Given the description of an element on the screen output the (x, y) to click on. 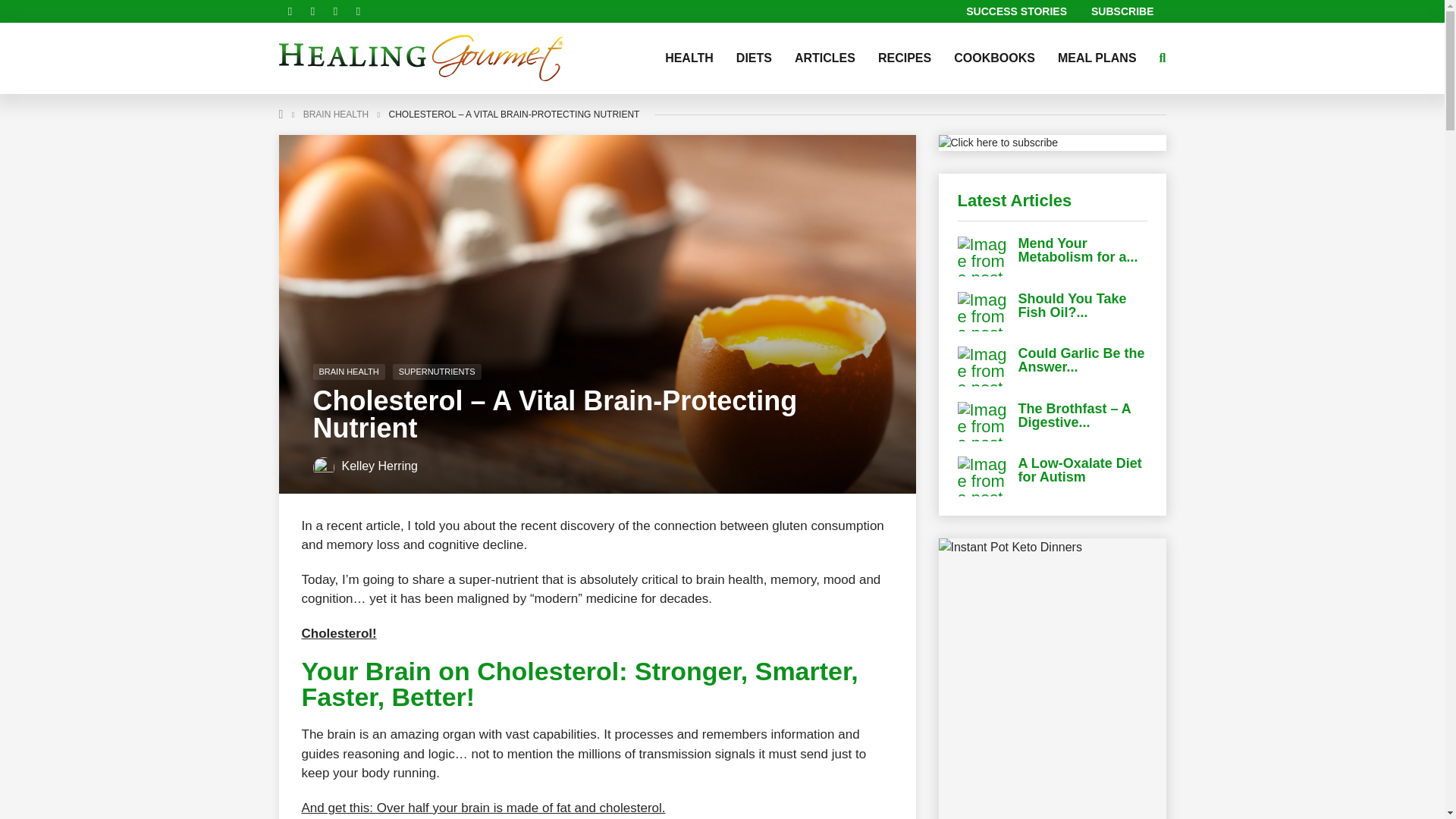
RECIPES (904, 58)
BRAIN HEALTH (335, 113)
BRAIN HEALTH (348, 371)
SUBSCRIBE (1122, 11)
SUPERNUTRIENTS (437, 371)
ARTICLES (824, 58)
COOKBOOKS (994, 58)
MEAL PLANS (1097, 58)
HEALTH (689, 58)
SUCCESS STORIES (1015, 11)
